Given the description of an element on the screen output the (x, y) to click on. 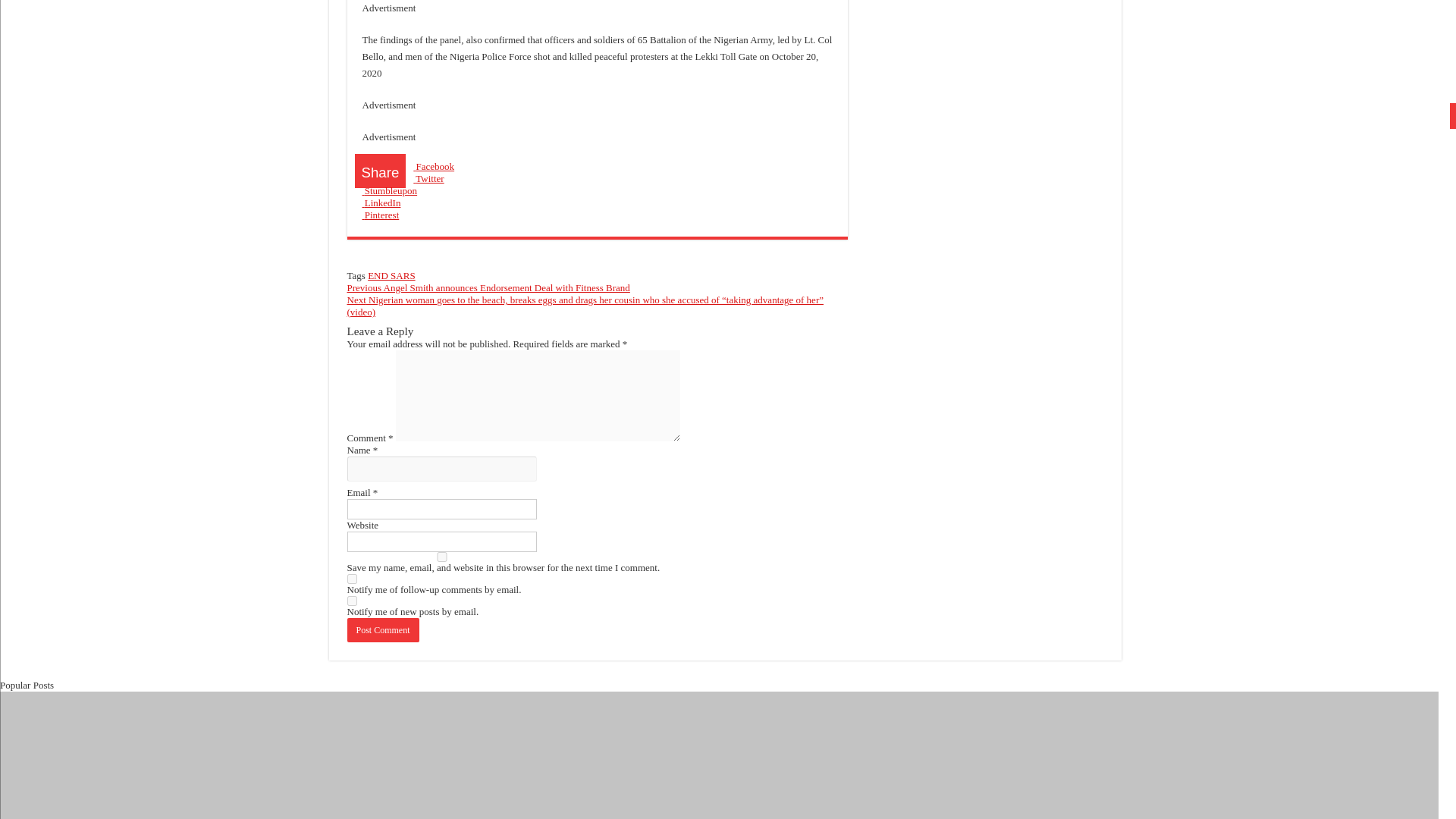
Post Comment (383, 630)
subscribe (351, 601)
subscribe (351, 578)
yes (442, 556)
